Given the description of an element on the screen output the (x, y) to click on. 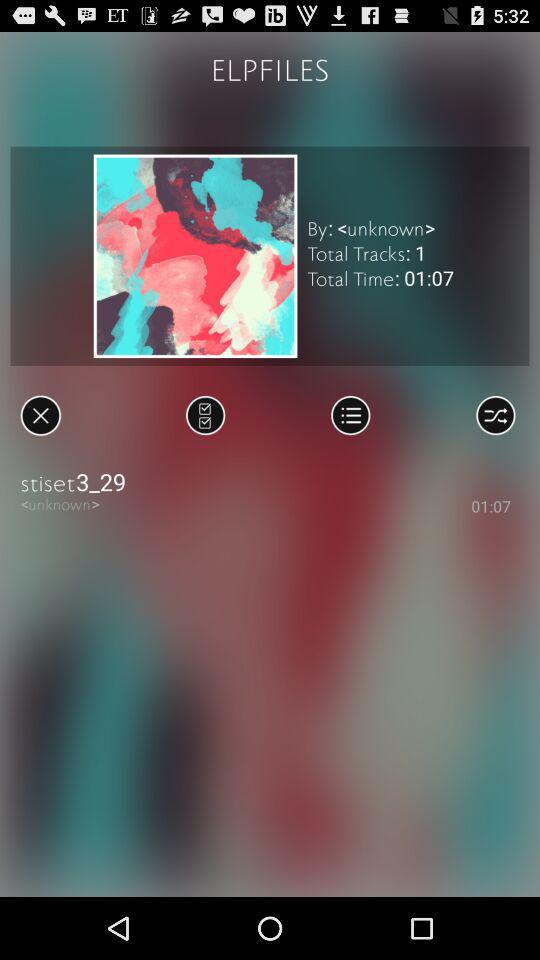
go to settings (495, 415)
